Given the description of an element on the screen output the (x, y) to click on. 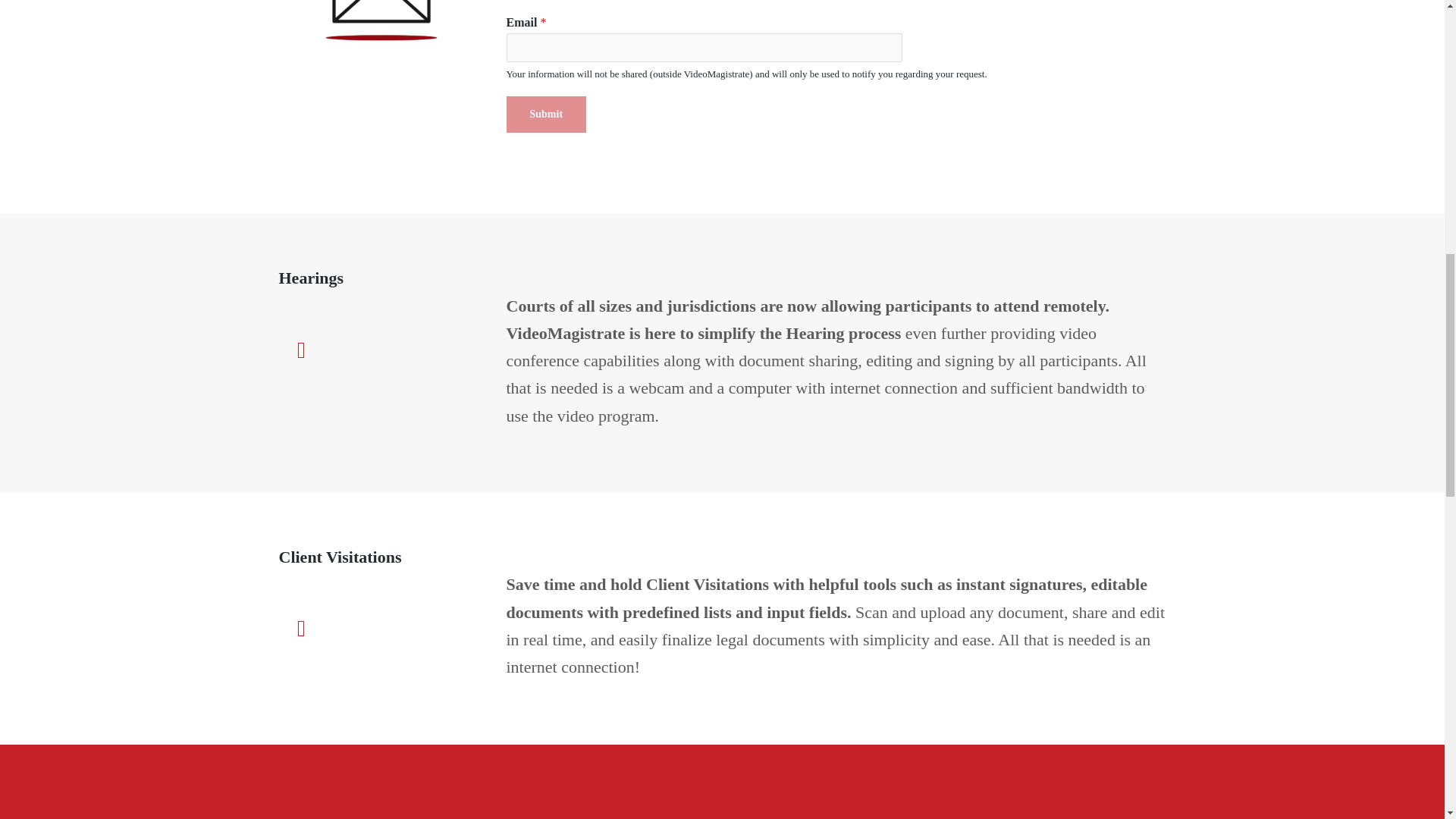
Submit (546, 114)
RSVP4 (381, 26)
